Given the description of an element on the screen output the (x, y) to click on. 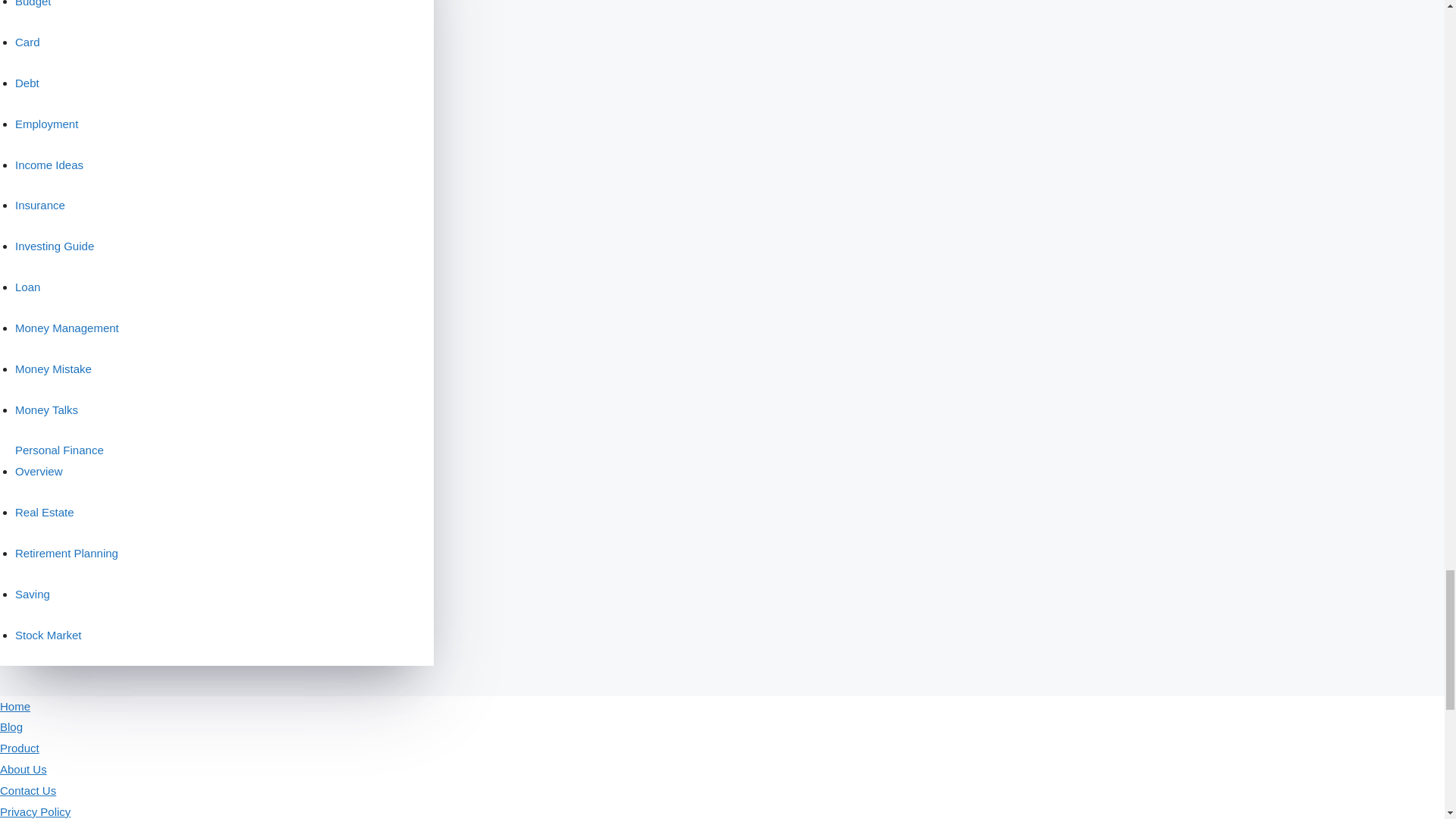
Debt (70, 88)
Employment (70, 128)
Card (70, 47)
Income Ideas (70, 169)
Insurance (70, 210)
Budget (70, 11)
